Given the description of an element on the screen output the (x, y) to click on. 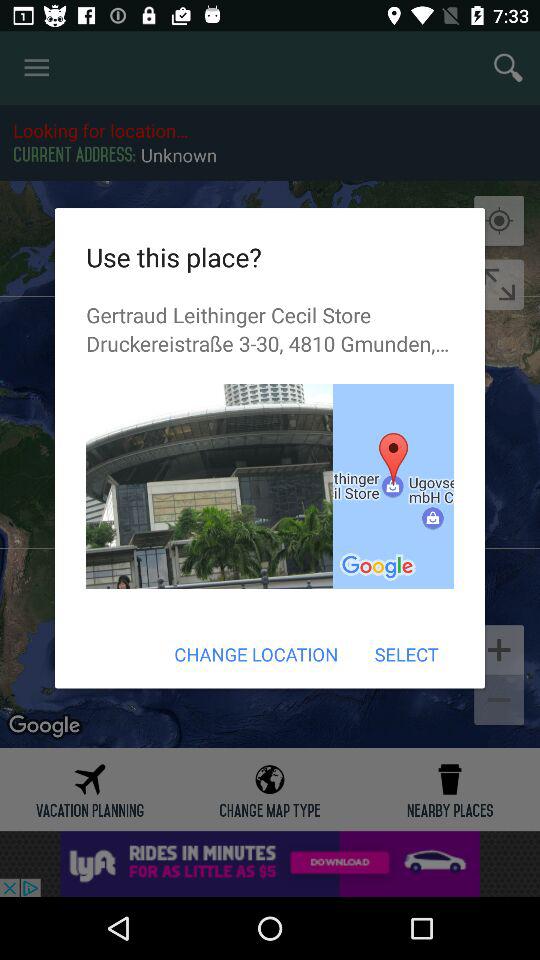
open the item next to change location item (406, 654)
